Given the description of an element on the screen output the (x, y) to click on. 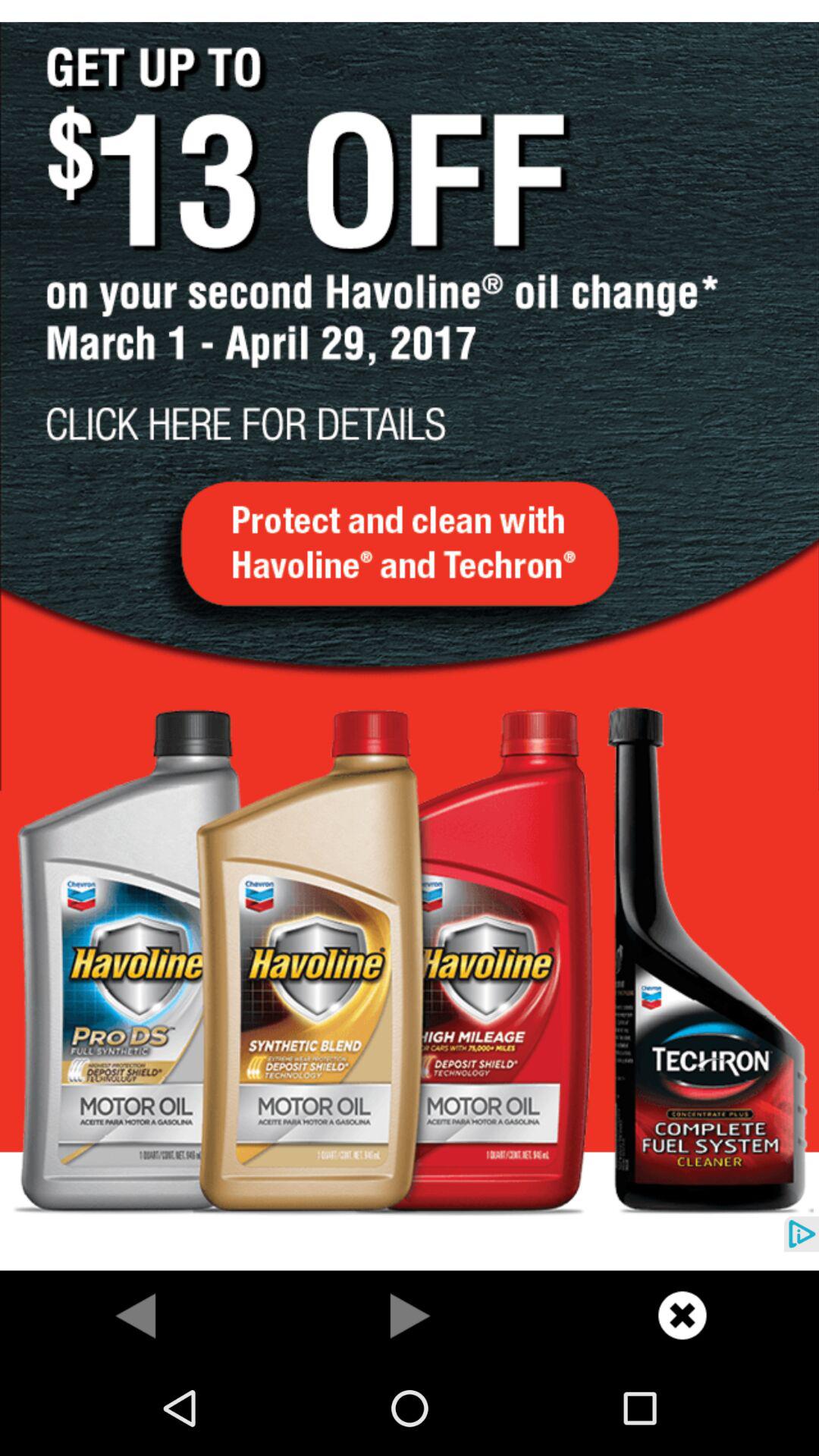
go to pay option (409, 1315)
